Given the description of an element on the screen output the (x, y) to click on. 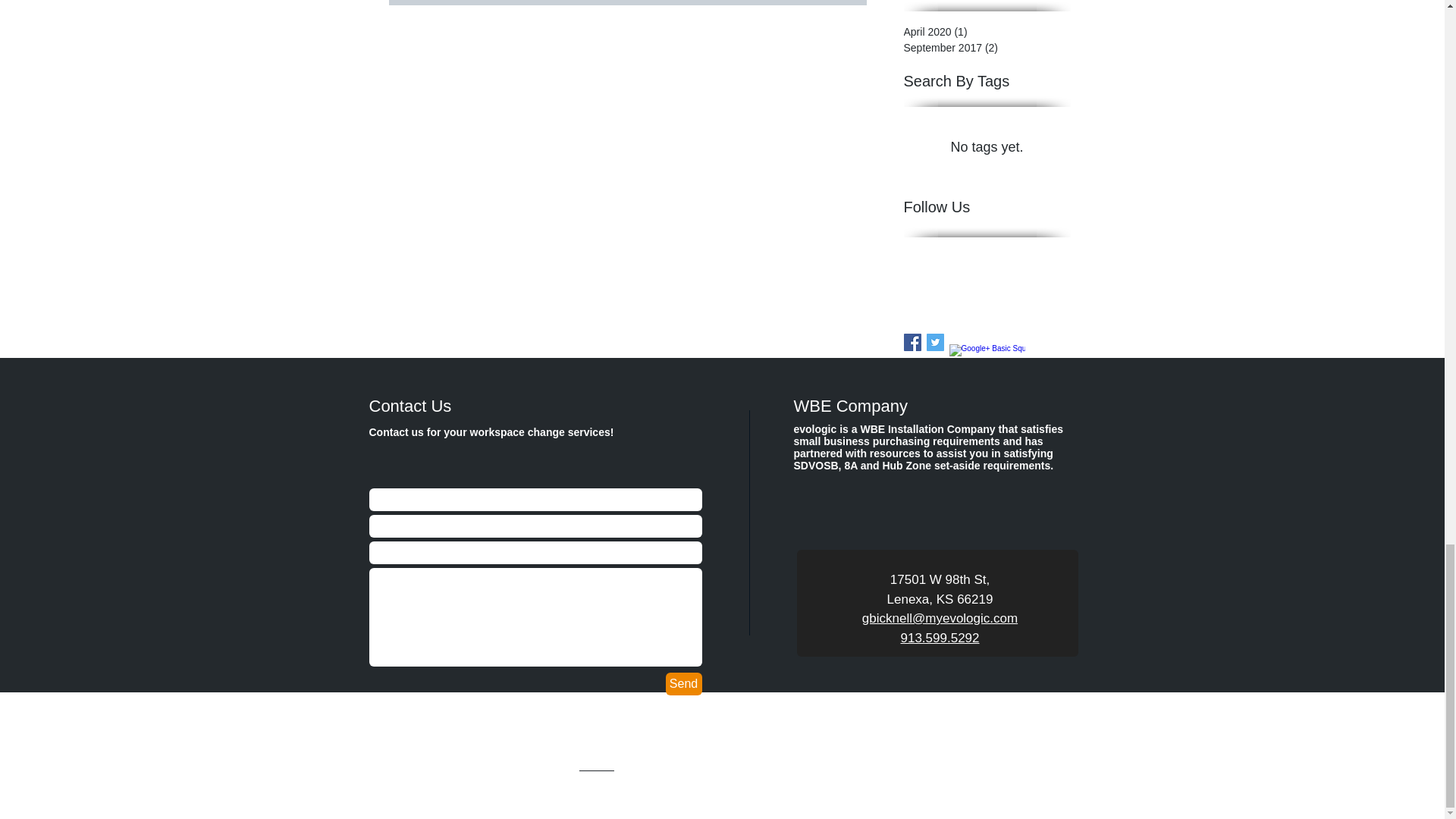
Send (683, 683)
Wix.com (596, 766)
913.599.5292 (940, 637)
